Given the description of an element on the screen output the (x, y) to click on. 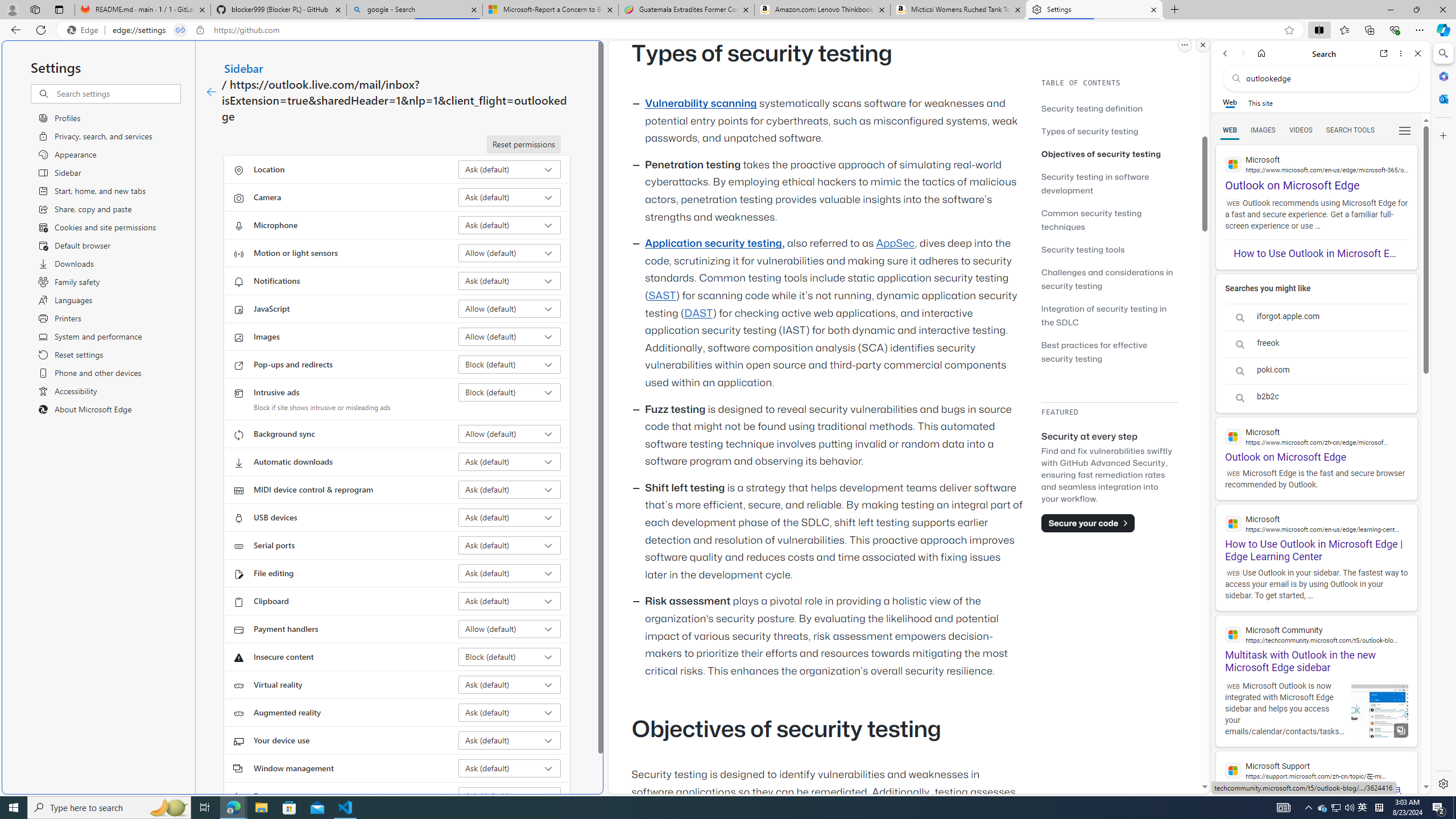
Security testing tools (1083, 248)
USB devices Ask (default) (509, 517)
Sidebar (243, 67)
Common security testing techniques (1091, 219)
Challenges and considerations in security testing (1109, 279)
freeok (1315, 343)
Reset permissions (523, 144)
Microphone Ask (default) (509, 225)
Class: c01182 (210, 91)
